Given the description of an element on the screen output the (x, y) to click on. 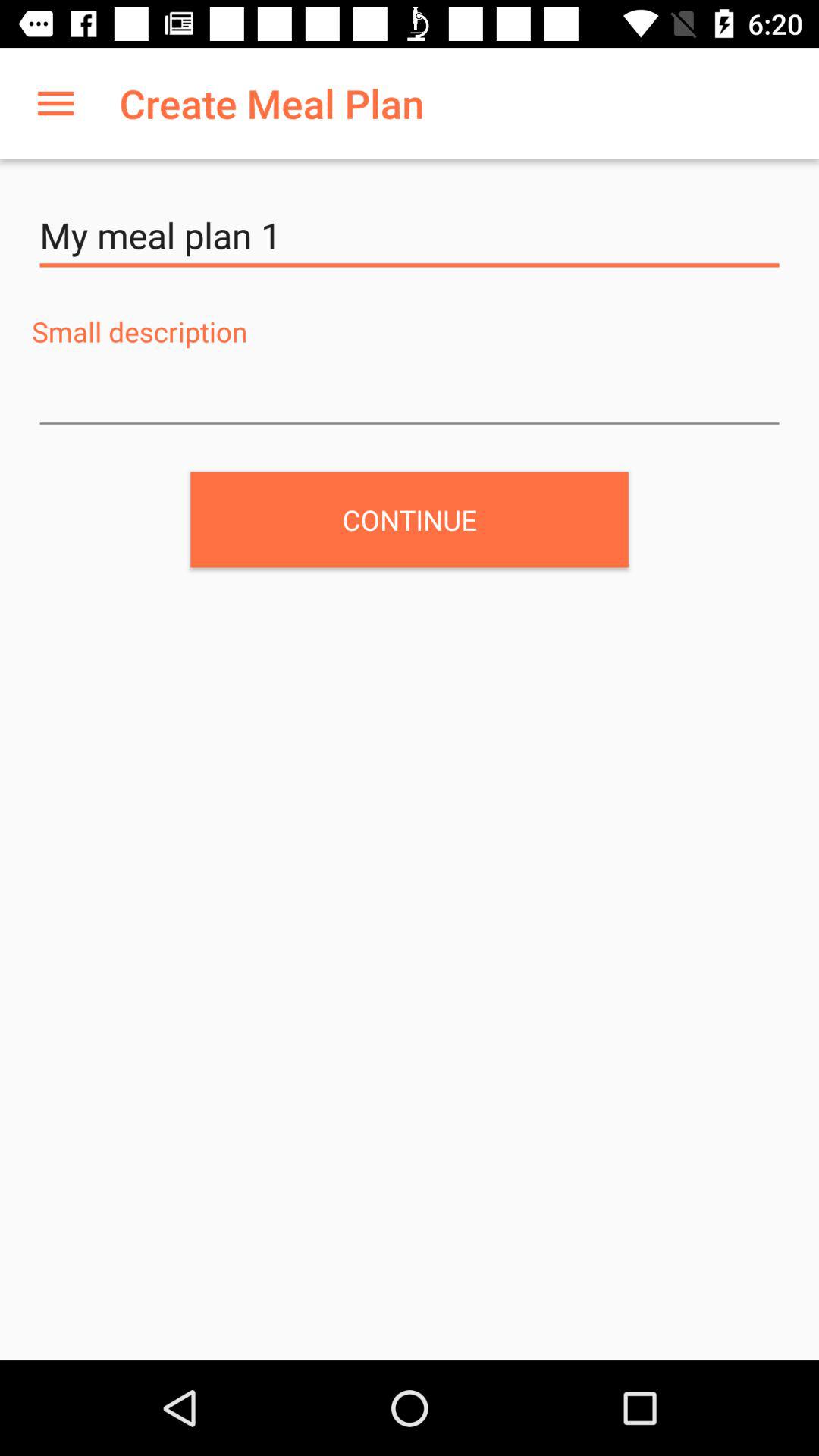
click app next to the create meal plan icon (55, 103)
